Given the description of an element on the screen output the (x, y) to click on. 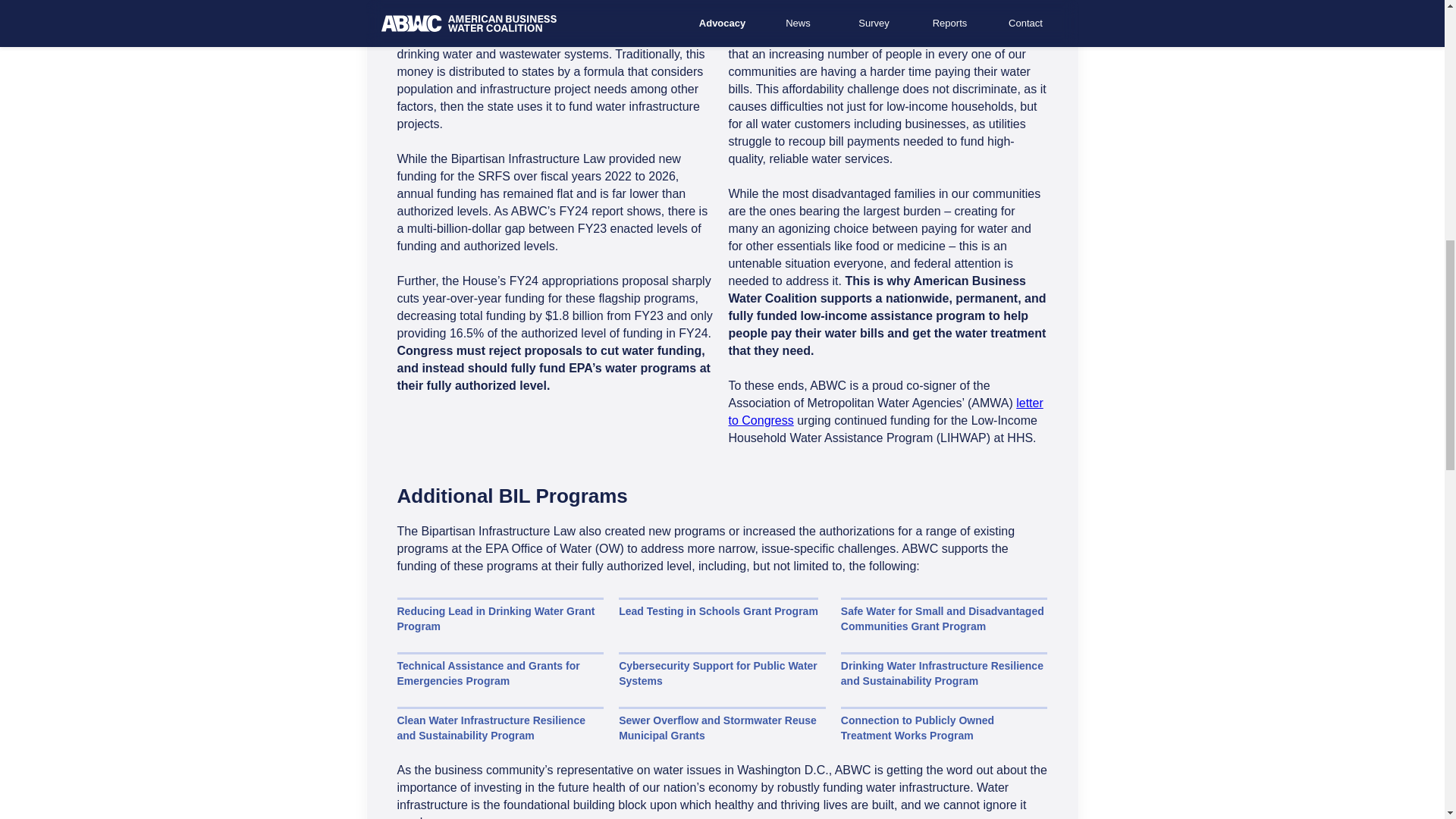
letter to Congress (885, 411)
